Given the description of an element on the screen output the (x, y) to click on. 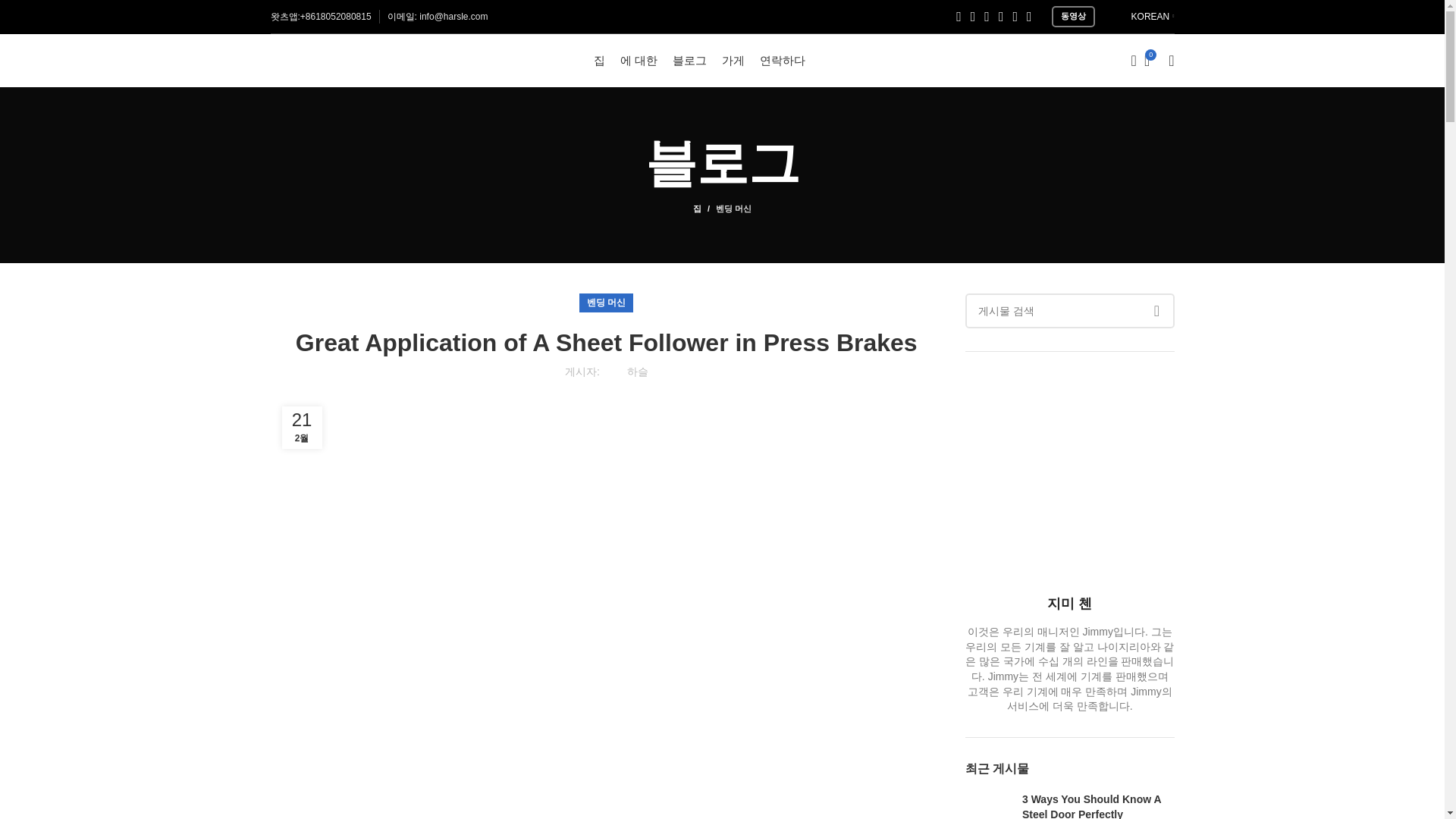
Korean (1119, 15)
KOREAN (1141, 16)
Log in (1049, 301)
